Given the description of an element on the screen output the (x, y) to click on. 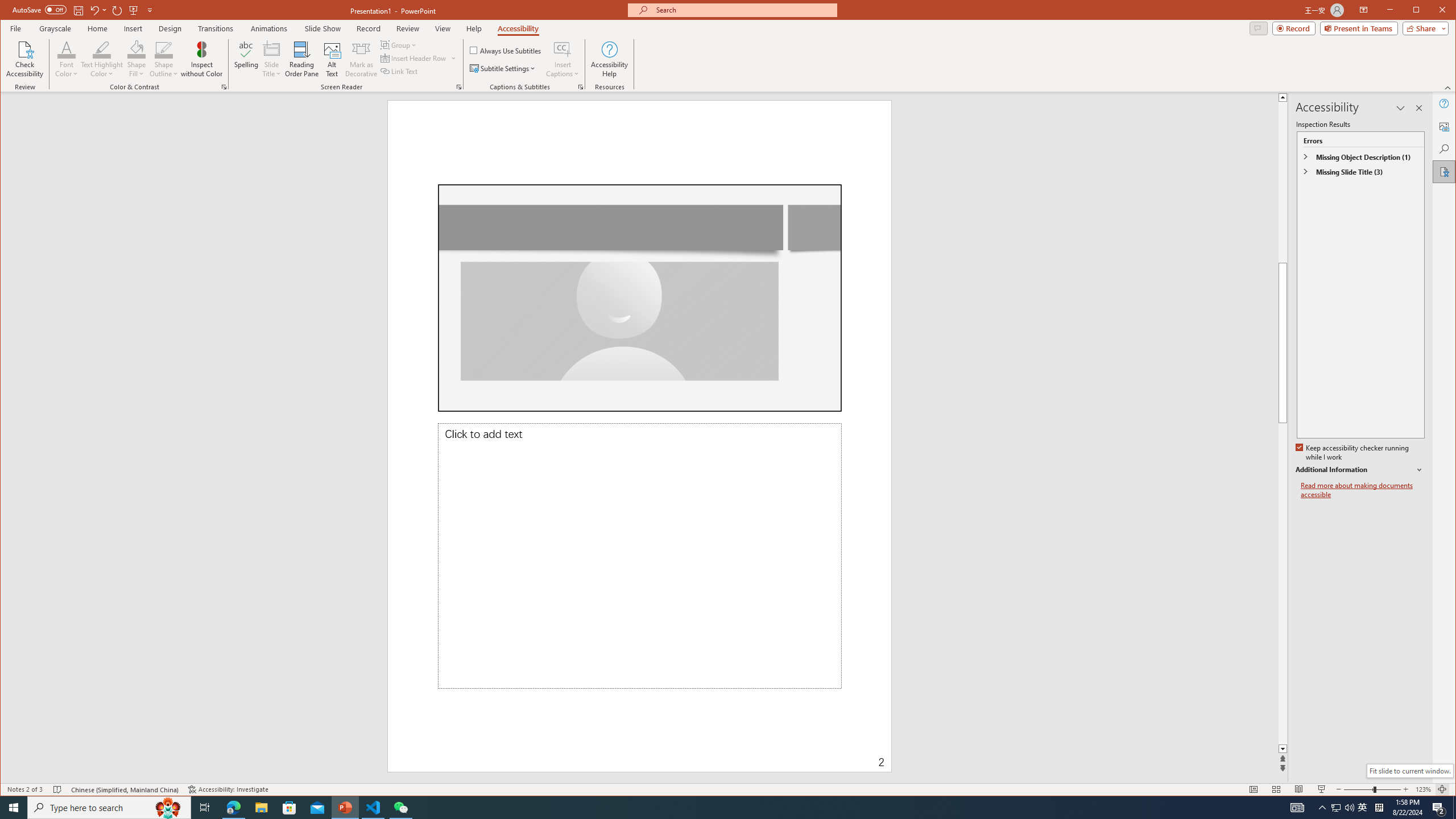
Captions & Subtitles (580, 86)
Screen Reader (458, 86)
Accessibility Help (608, 59)
Read more about making documents accessible (1362, 489)
Shape Fill Orange, Accent 2 (136, 48)
